Given the description of an element on the screen output the (x, y) to click on. 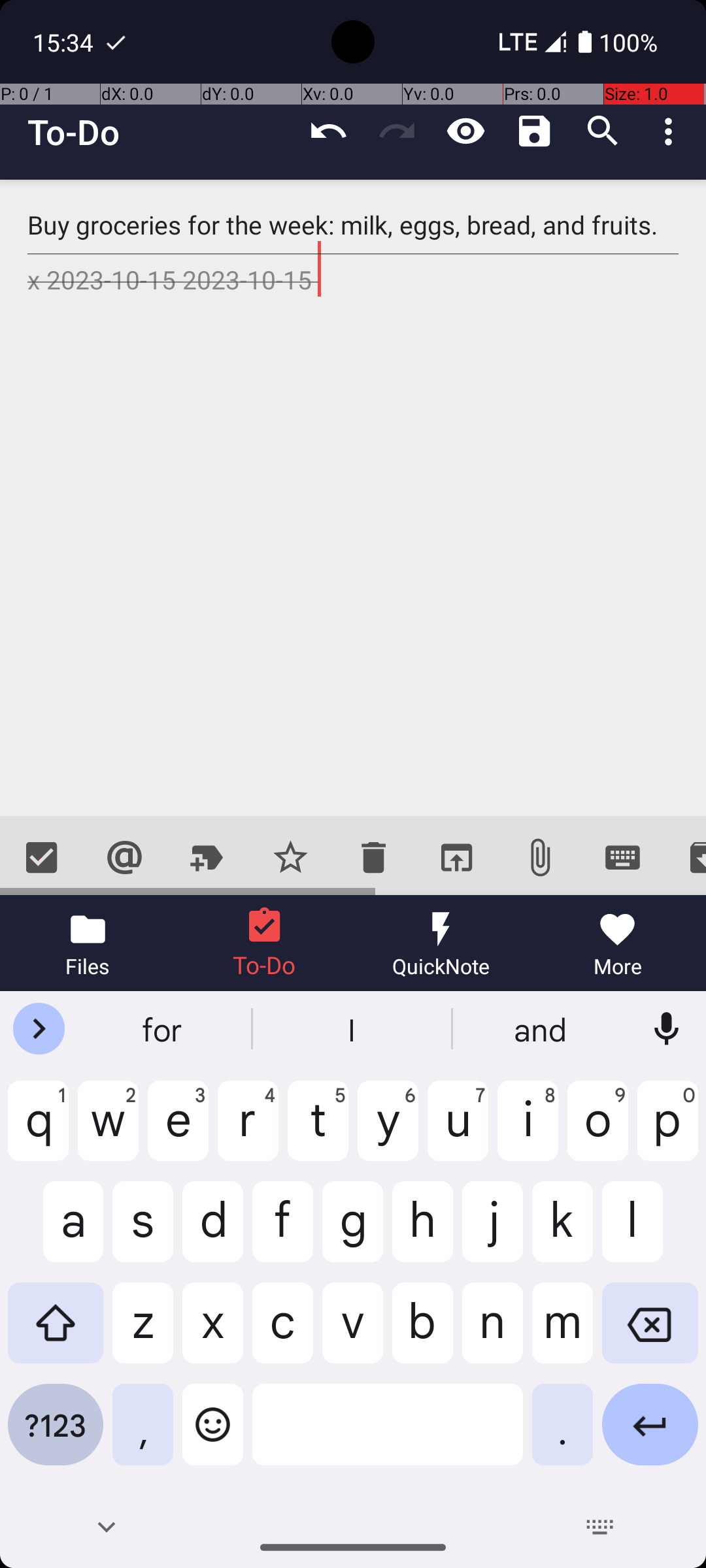
Buy groceries for the week: milk, eggs, bread, and fruits.
x 2023-10-15 2023-10-15  Element type: android.widget.EditText (353, 497)
for Element type: android.widget.FrameLayout (163, 1028)
and Element type: android.widget.FrameLayout (541, 1028)
